Given the description of an element on the screen output the (x, y) to click on. 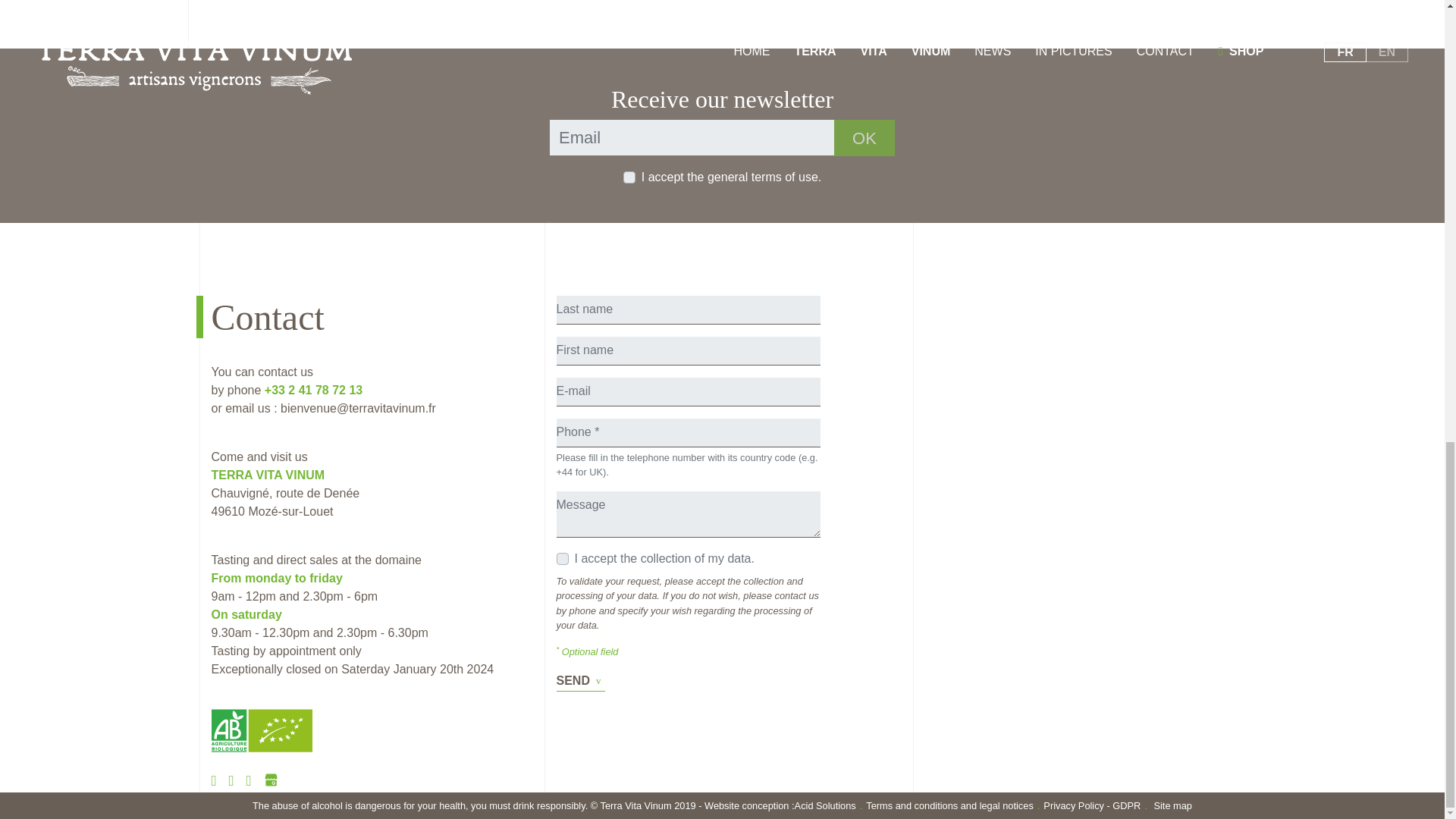
OK (864, 137)
OK (864, 137)
